Given the description of an element on the screen output the (x, y) to click on. 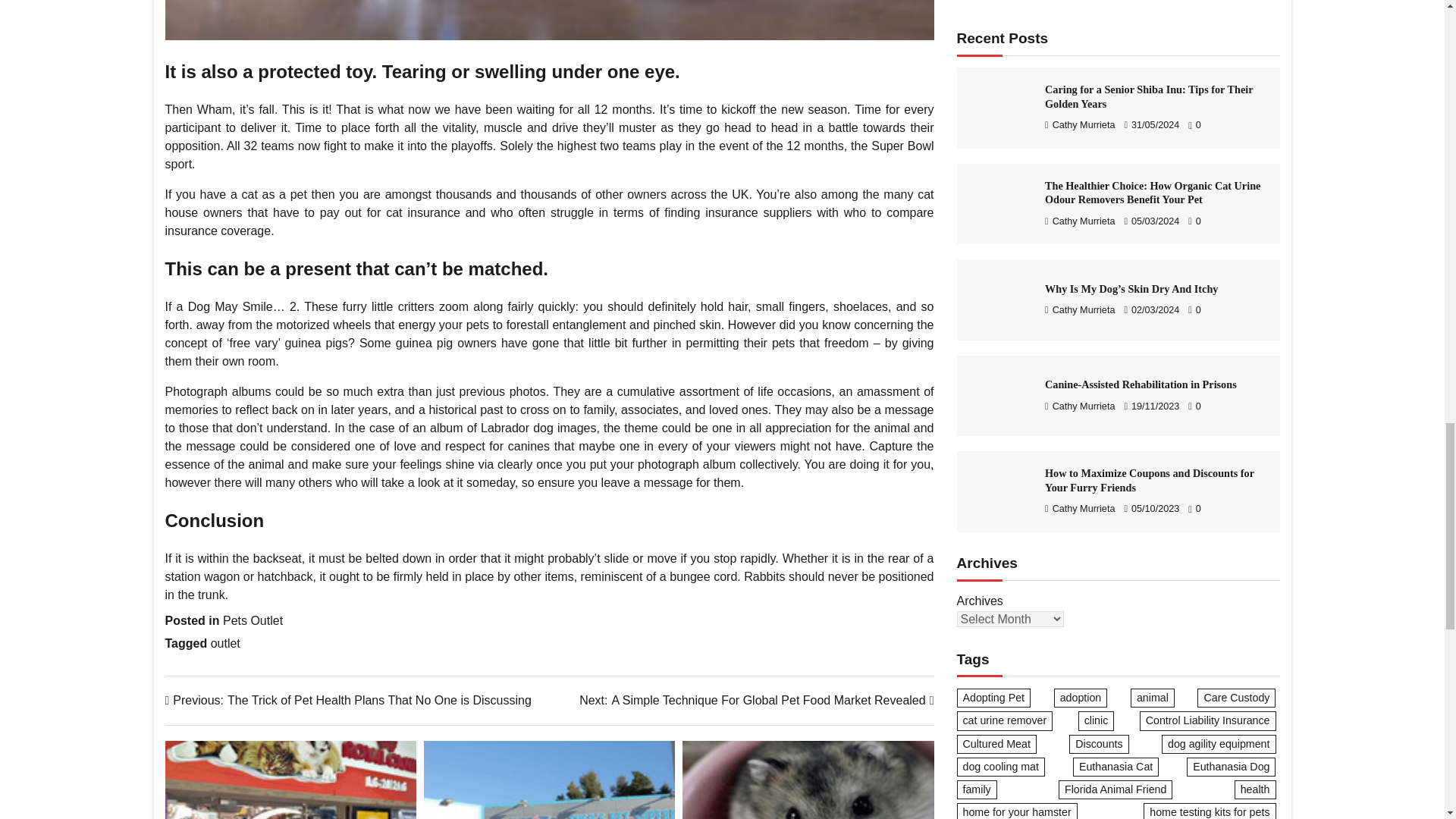
The Insider Secret on Pet Food Outlet Found (807, 780)
outlet (225, 643)
Pets Outlet (252, 620)
5 Simple Ways For Natural Pet Outlet Revealed (756, 700)
An Unbiased View of World Pets Outlet (549, 20)
An Unbiased View of Pet Supplies Outlet (549, 780)
